Given the description of an element on the screen output the (x, y) to click on. 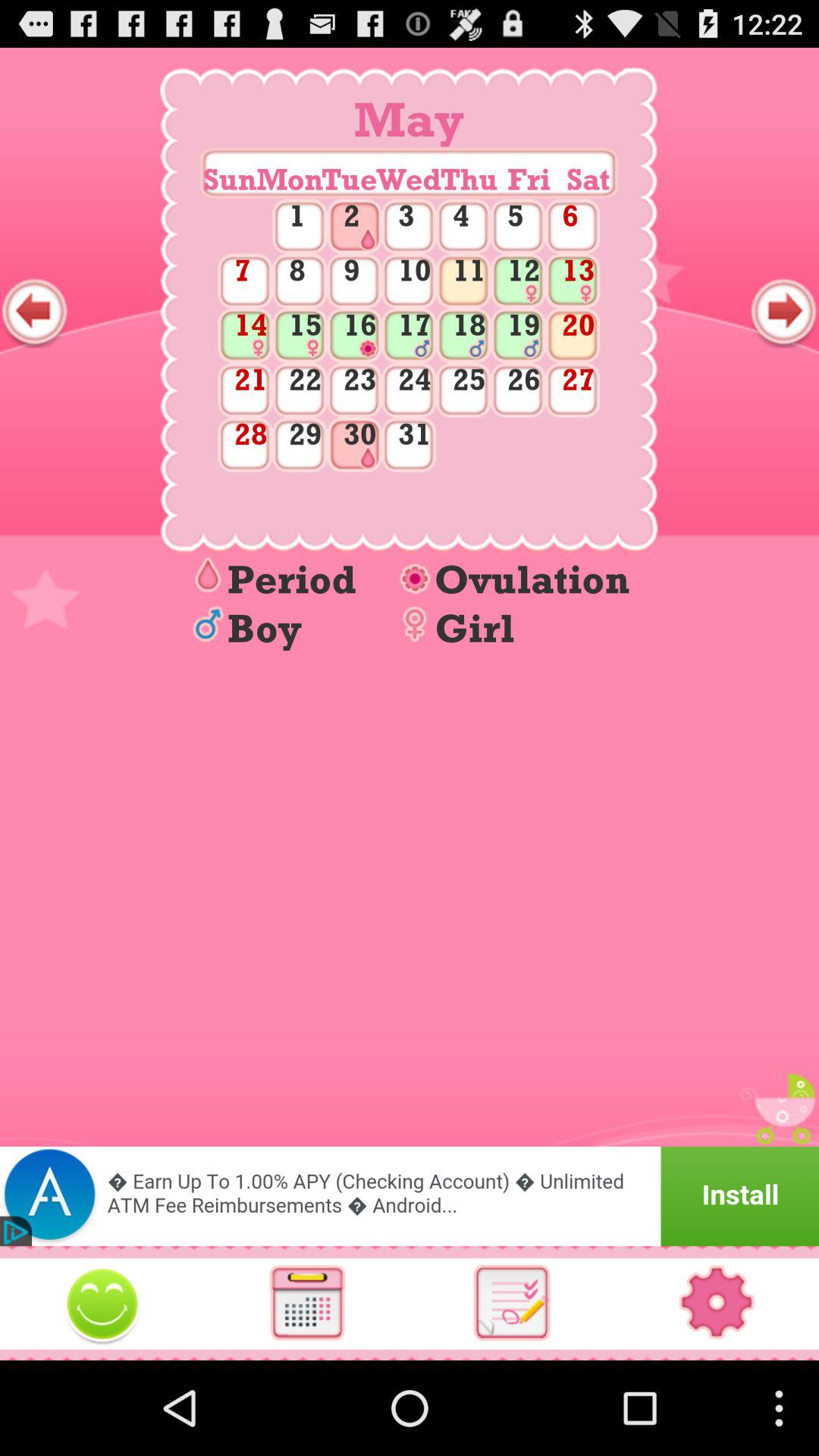
go to next page (784, 311)
